Given the description of an element on the screen output the (x, y) to click on. 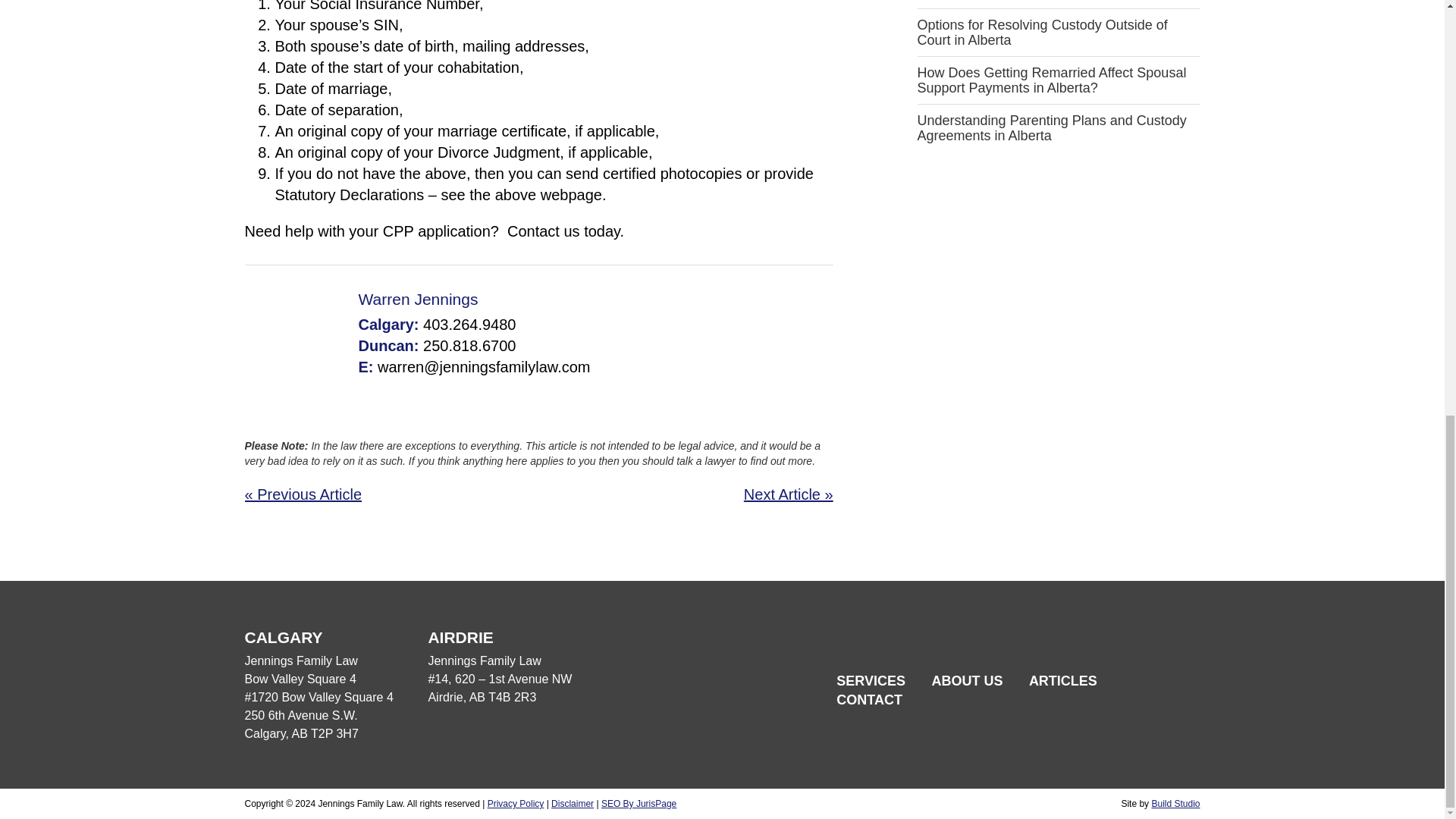
Build Studio Inc. (1175, 803)
Posts by Warren Jennings (417, 298)
